Given the description of an element on the screen output the (x, y) to click on. 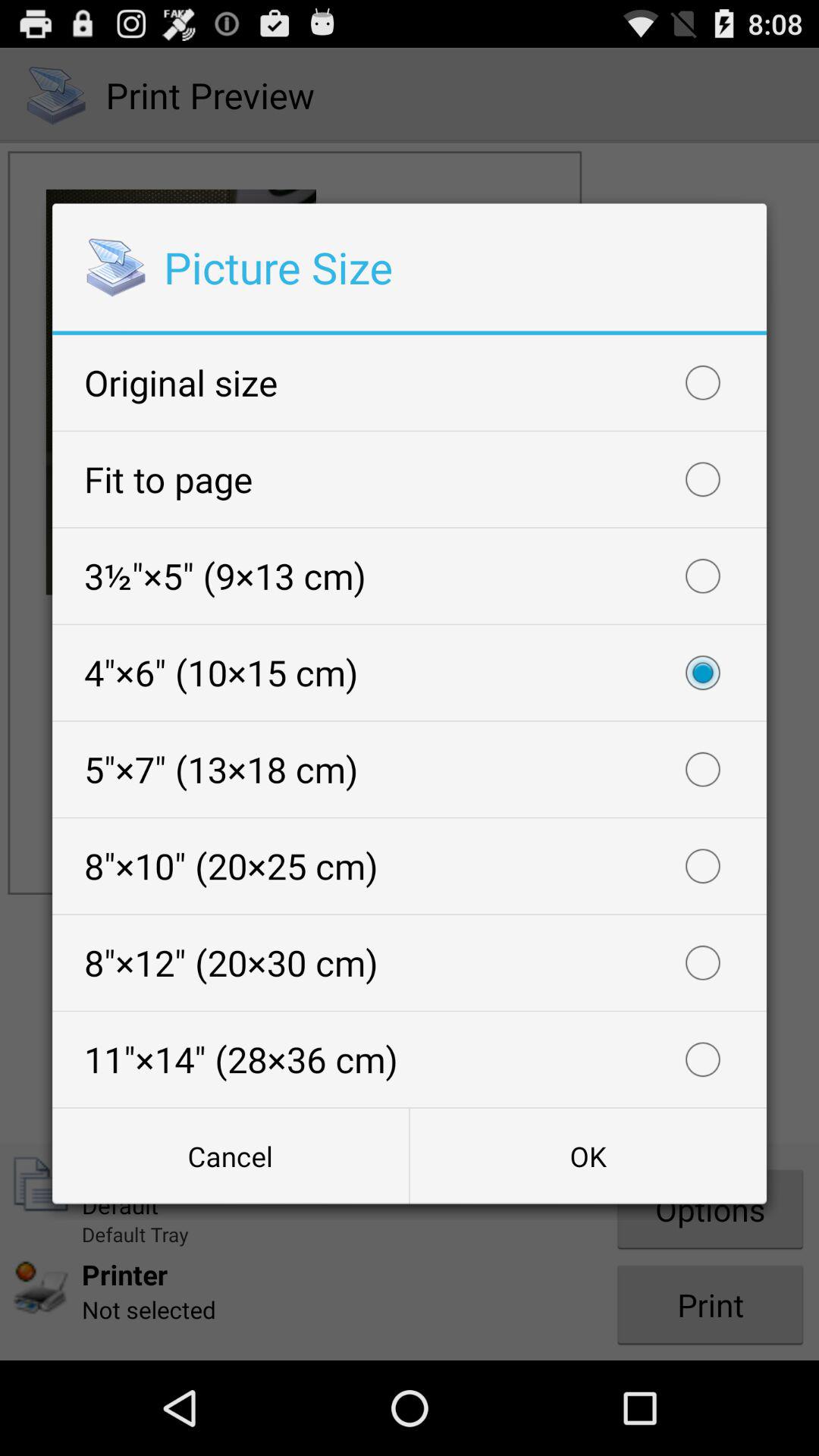
press ok button (588, 1156)
